Given the description of an element on the screen output the (x, y) to click on. 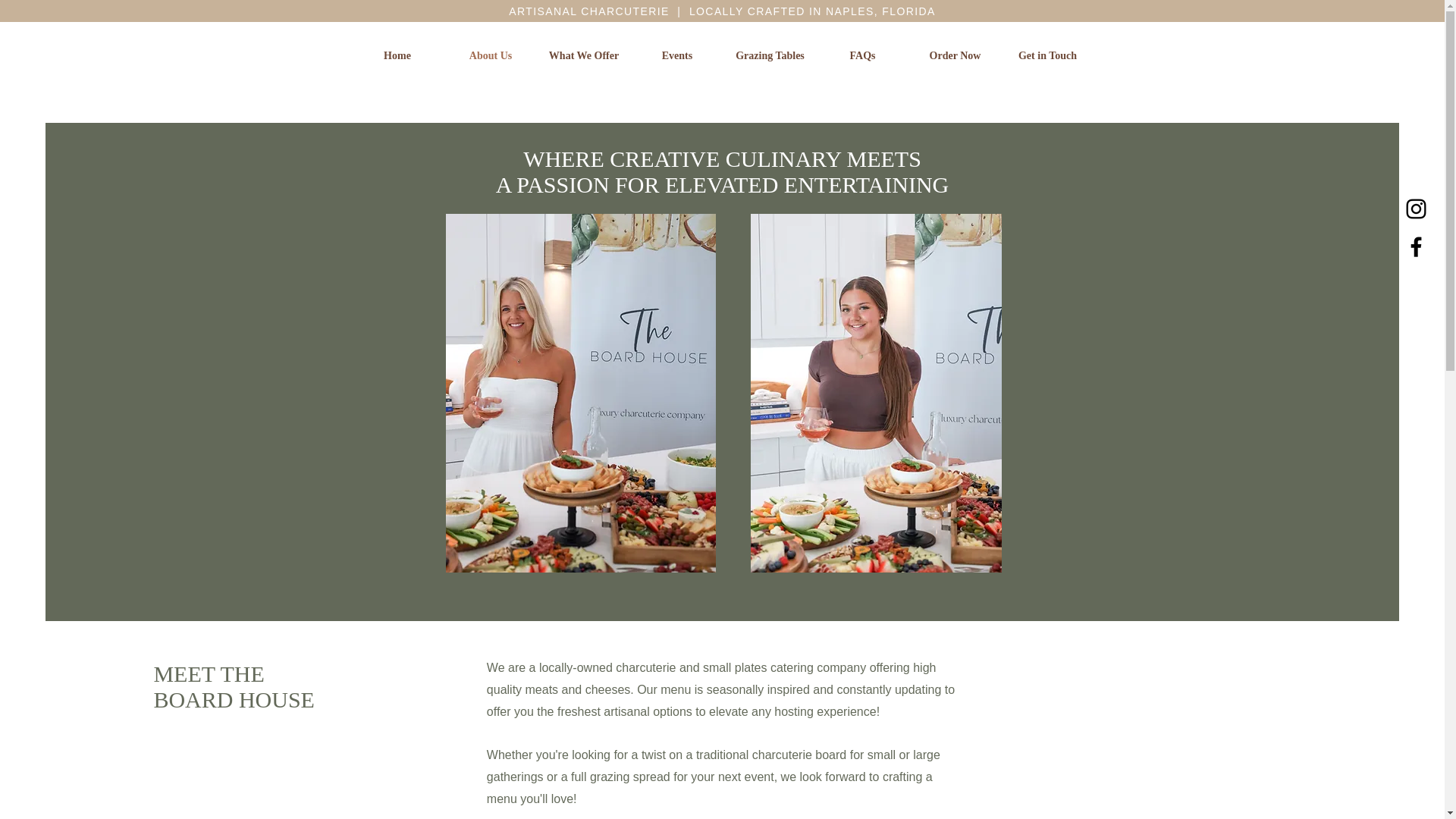
Grazing Tables (769, 55)
FAQs (861, 55)
Get in Touch (1047, 55)
What We Offer (583, 55)
Home (397, 55)
Order Now (954, 55)
Events (676, 55)
About Us (490, 55)
